Given the description of an element on the screen output the (x, y) to click on. 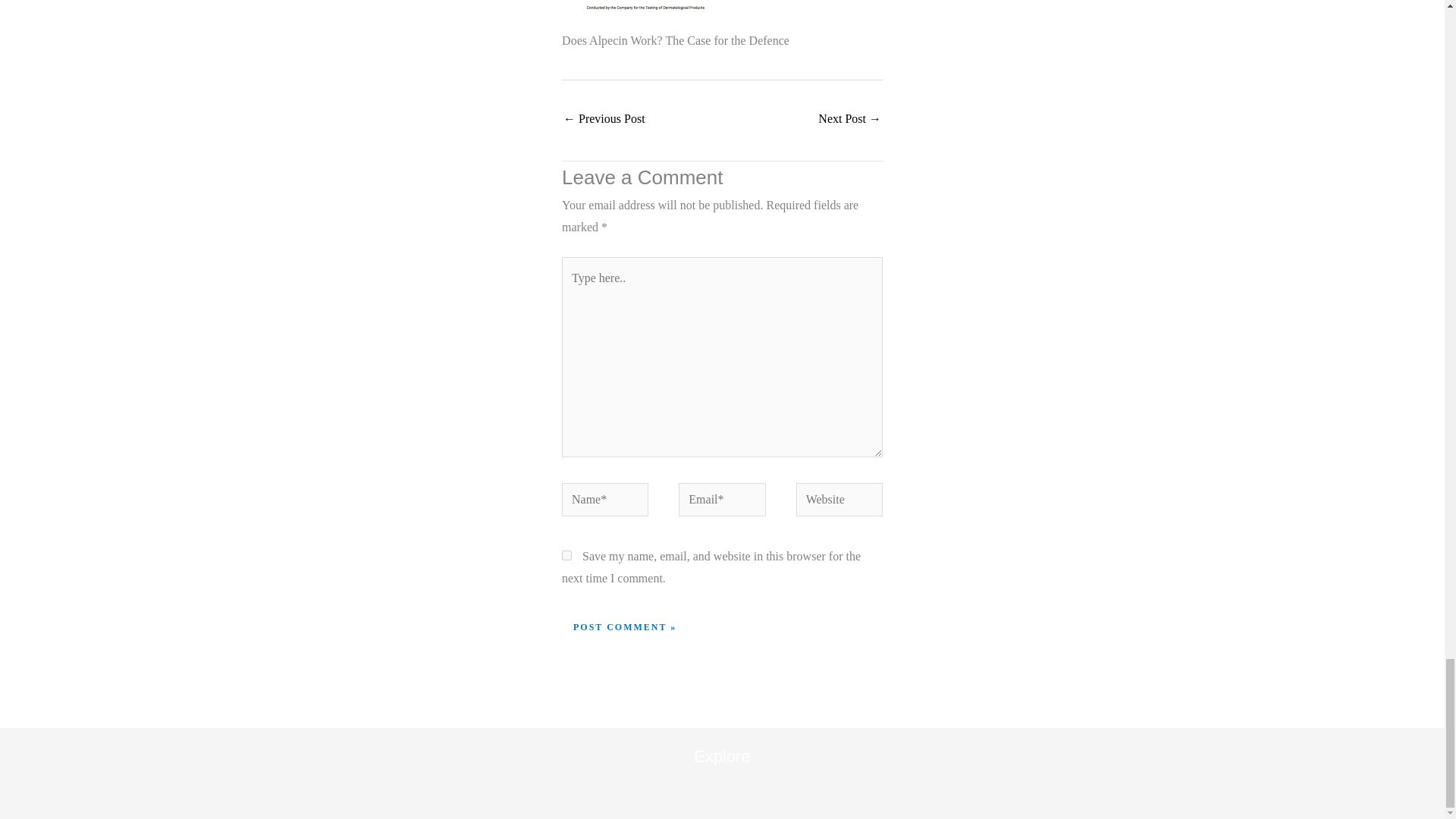
yes (567, 555)
New FDA Guidance On Lead In Lipstick (849, 120)
What Kind Of Blog Posts Should I Be Writing? (604, 120)
